Given the description of an element on the screen output the (x, y) to click on. 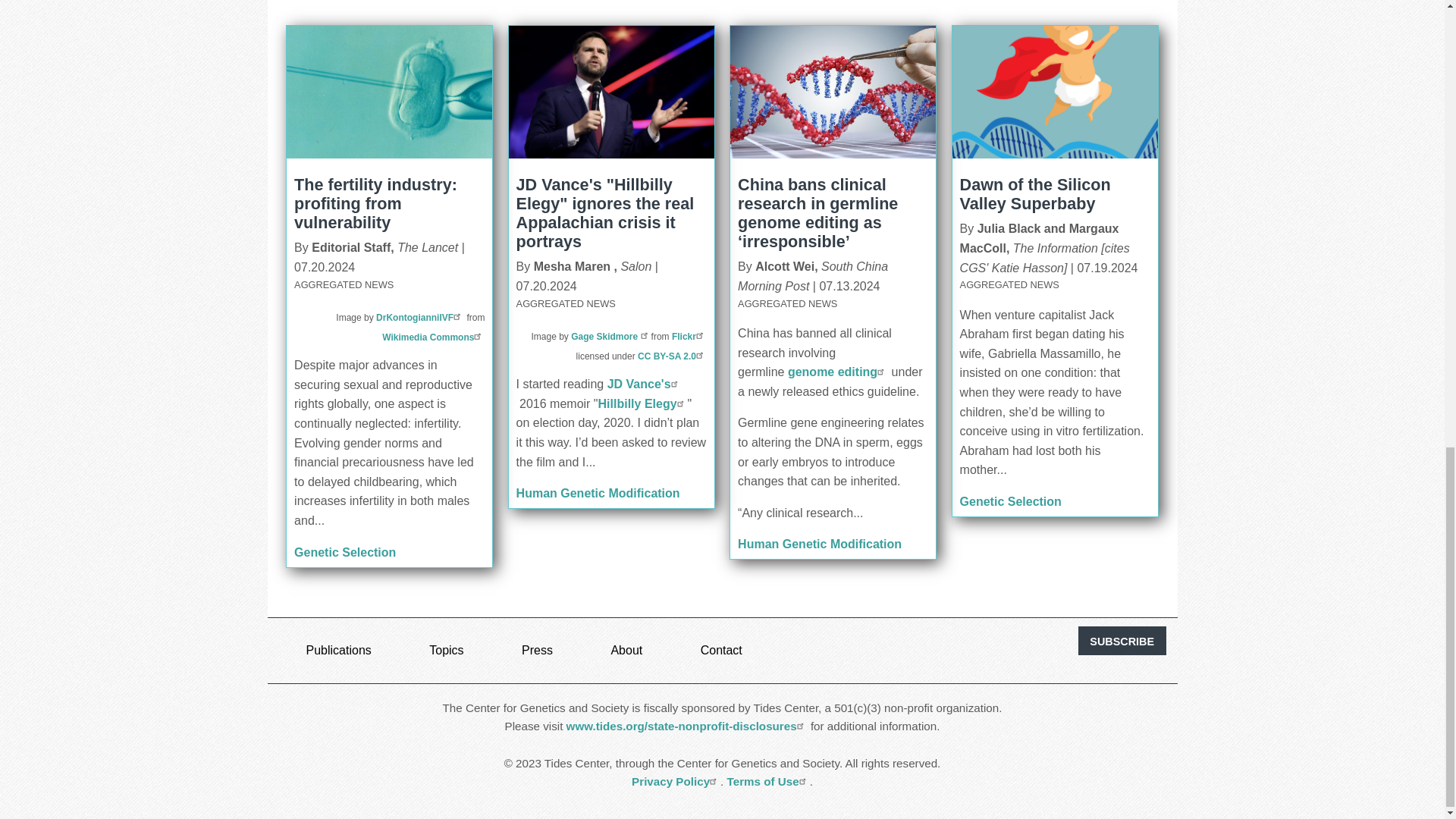
The fertility industry: profiting from vulnerability (375, 203)
Genetic Selection (345, 552)
